Given the description of an element on the screen output the (x, y) to click on. 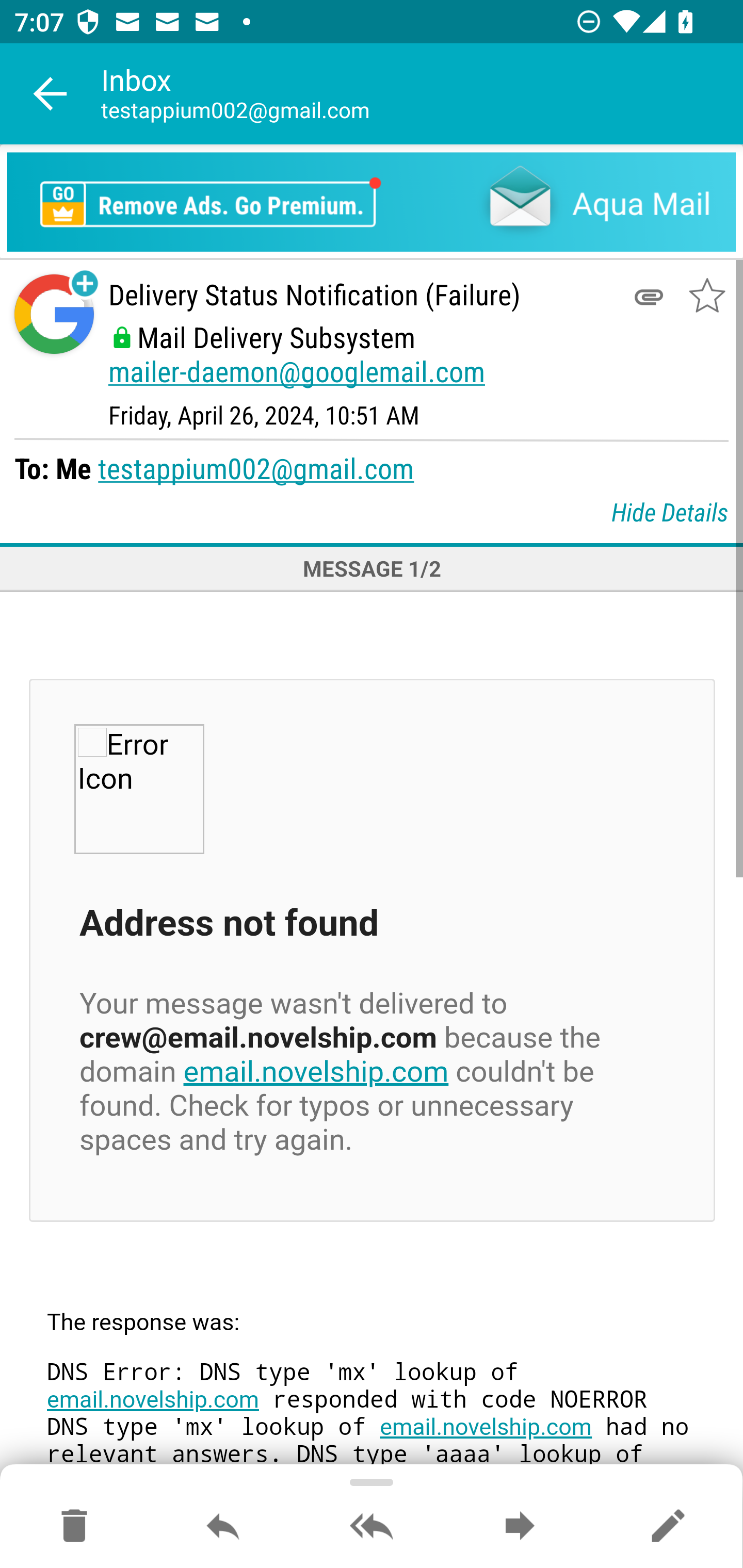
Navigate up (50, 93)
Inbox testappium002@gmail.com (422, 93)
Sender contact button (53, 314)
Move to Deleted (74, 1527)
Reply (222, 1527)
Reply all (371, 1527)
Forward (519, 1527)
Reply as new (667, 1527)
